Given the description of an element on the screen output the (x, y) to click on. 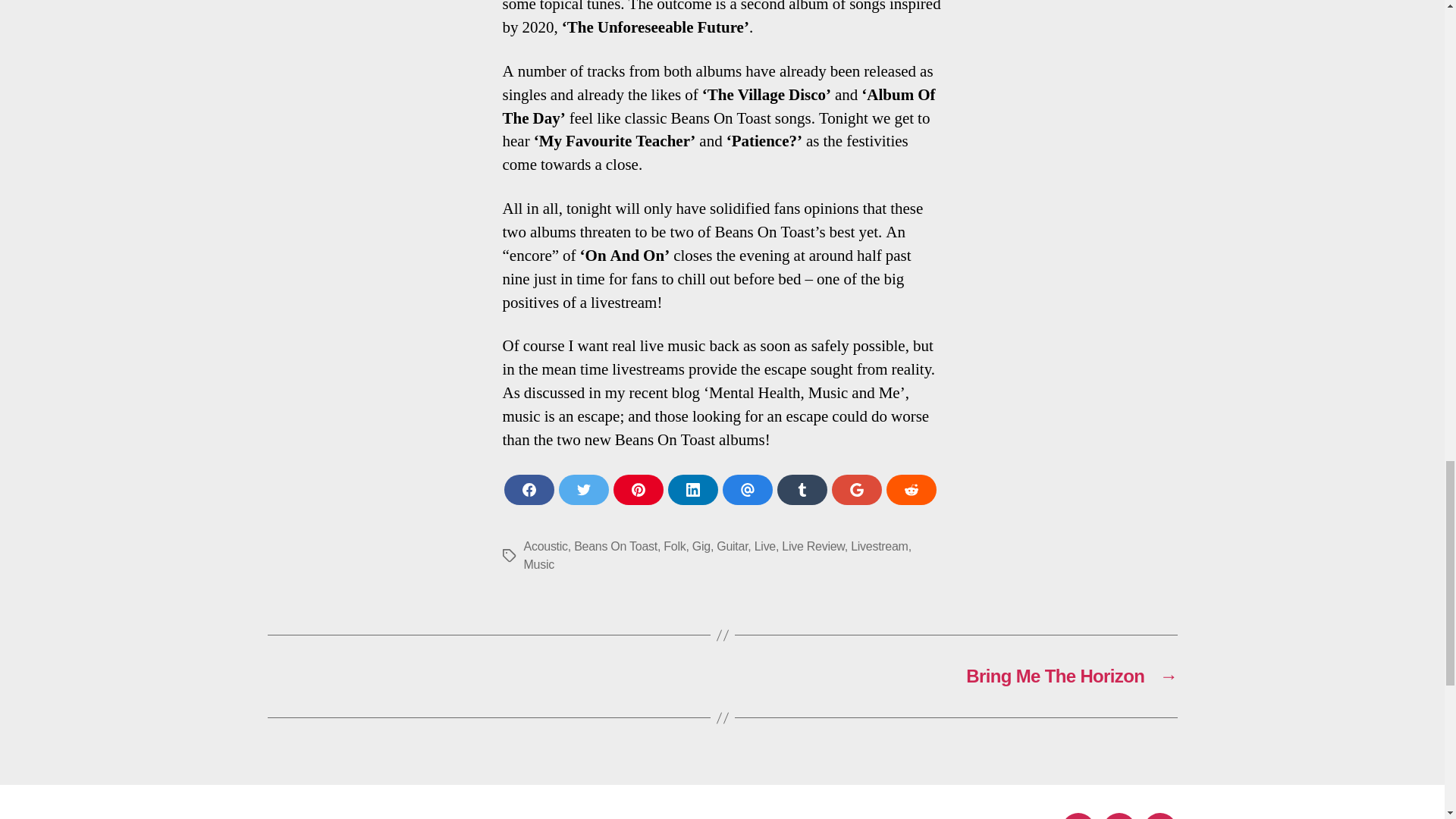
Share on Google (855, 490)
Share on Twitter (582, 490)
Share on Linkedin (691, 490)
Share via Email (746, 490)
Share on Pinterest (637, 490)
Share on Tumblr (801, 490)
Share on Facebook (528, 490)
Share on Reddit (910, 490)
